Given the description of an element on the screen output the (x, y) to click on. 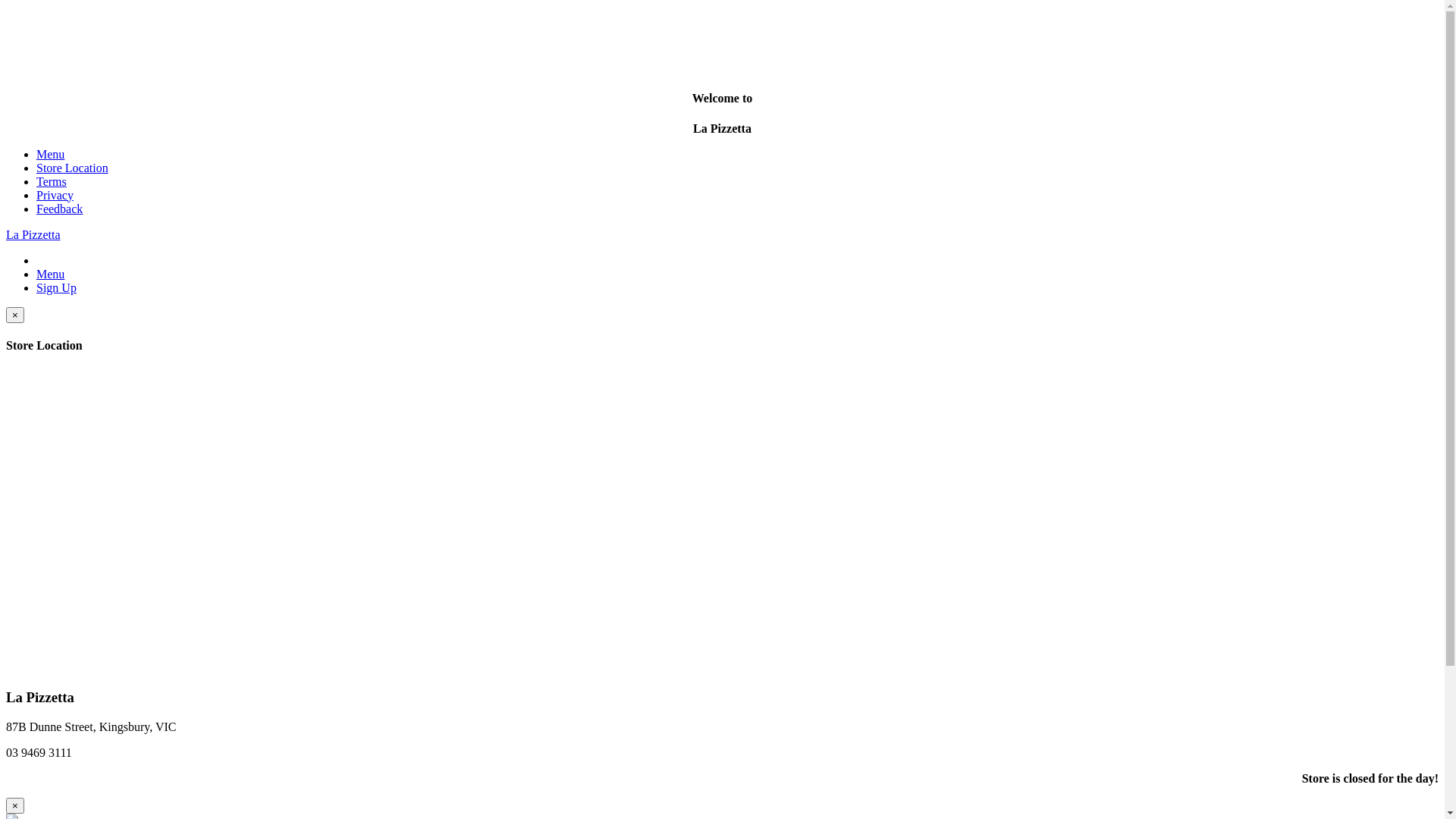
Feedback Element type: text (59, 208)
Sign Up Element type: text (56, 287)
La Pizzetta Element type: text (33, 234)
Menu Element type: text (50, 153)
Terms Element type: text (51, 181)
Privacy Element type: text (54, 194)
Store Location Element type: text (72, 167)
Menu Element type: text (50, 273)
